Given the description of an element on the screen output the (x, y) to click on. 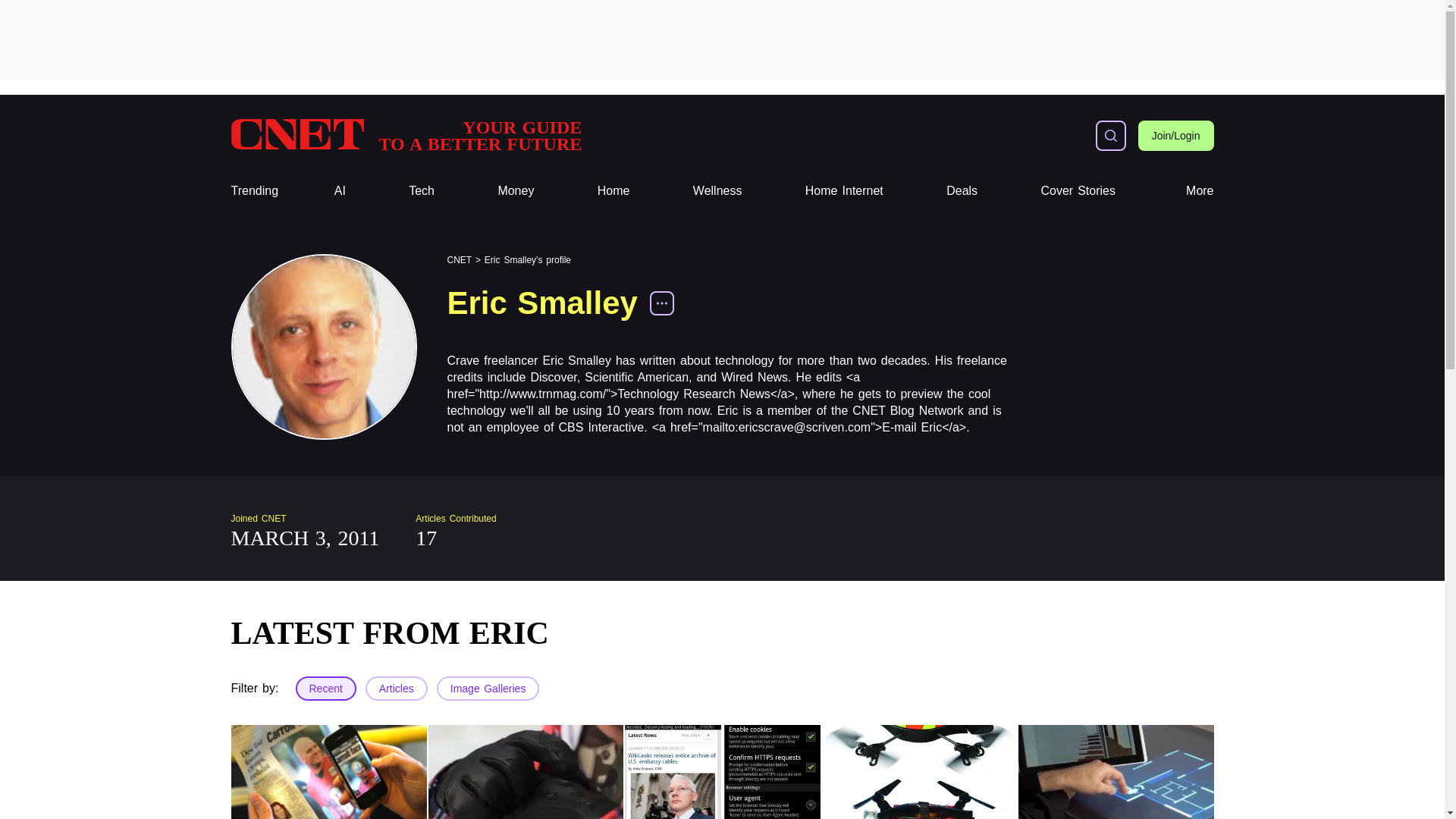
Money (515, 190)
Deals (961, 190)
Trending (254, 190)
Home Internet (844, 190)
Money (515, 190)
3rd party ad content (721, 39)
Home Internet (844, 190)
Tech (421, 190)
More (1199, 190)
Trending (254, 190)
Home (613, 190)
Wellness (717, 190)
Home (613, 190)
CNET (405, 135)
